Given the description of an element on the screen output the (x, y) to click on. 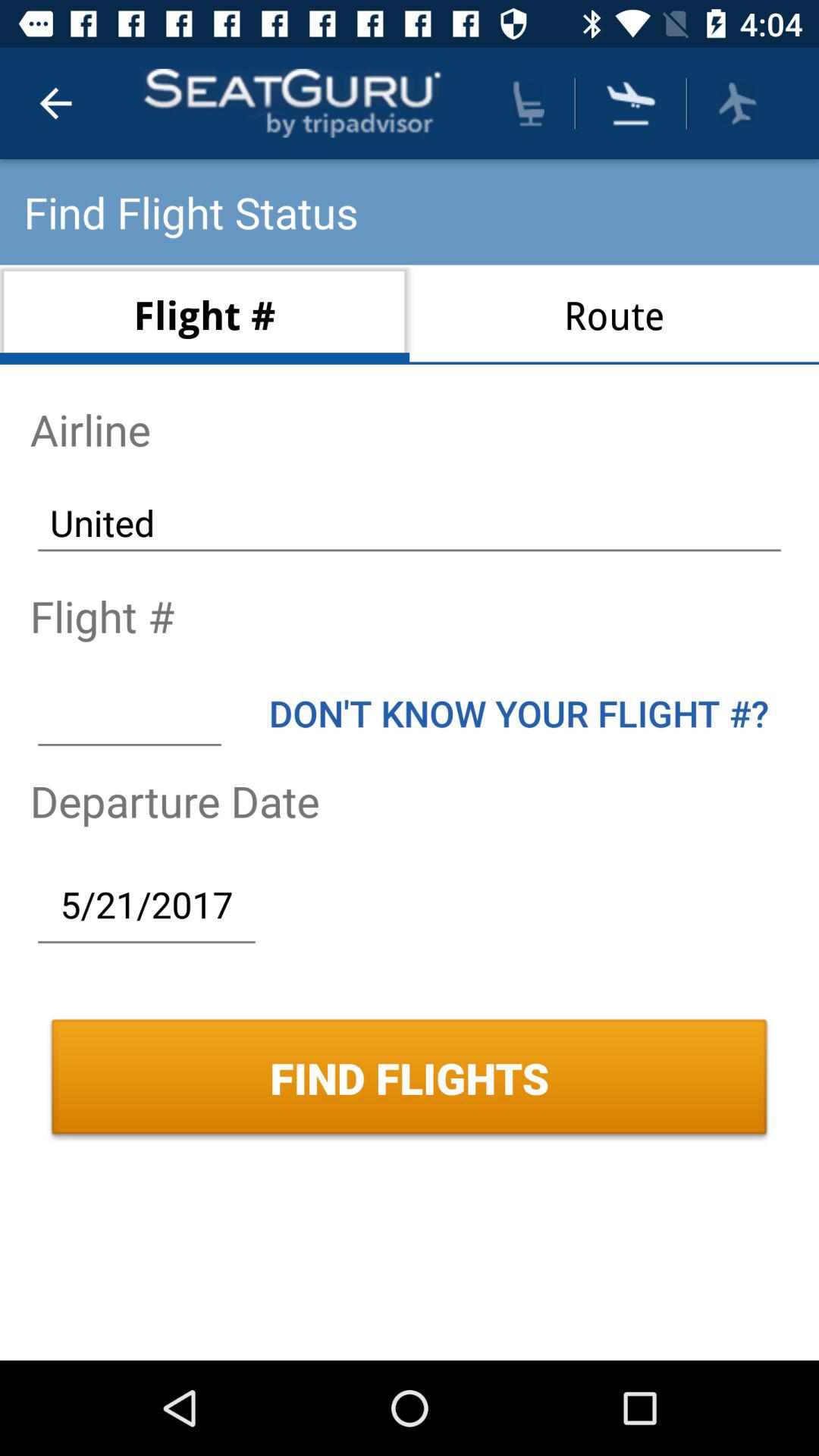
open the route (614, 314)
